Given the description of an element on the screen output the (x, y) to click on. 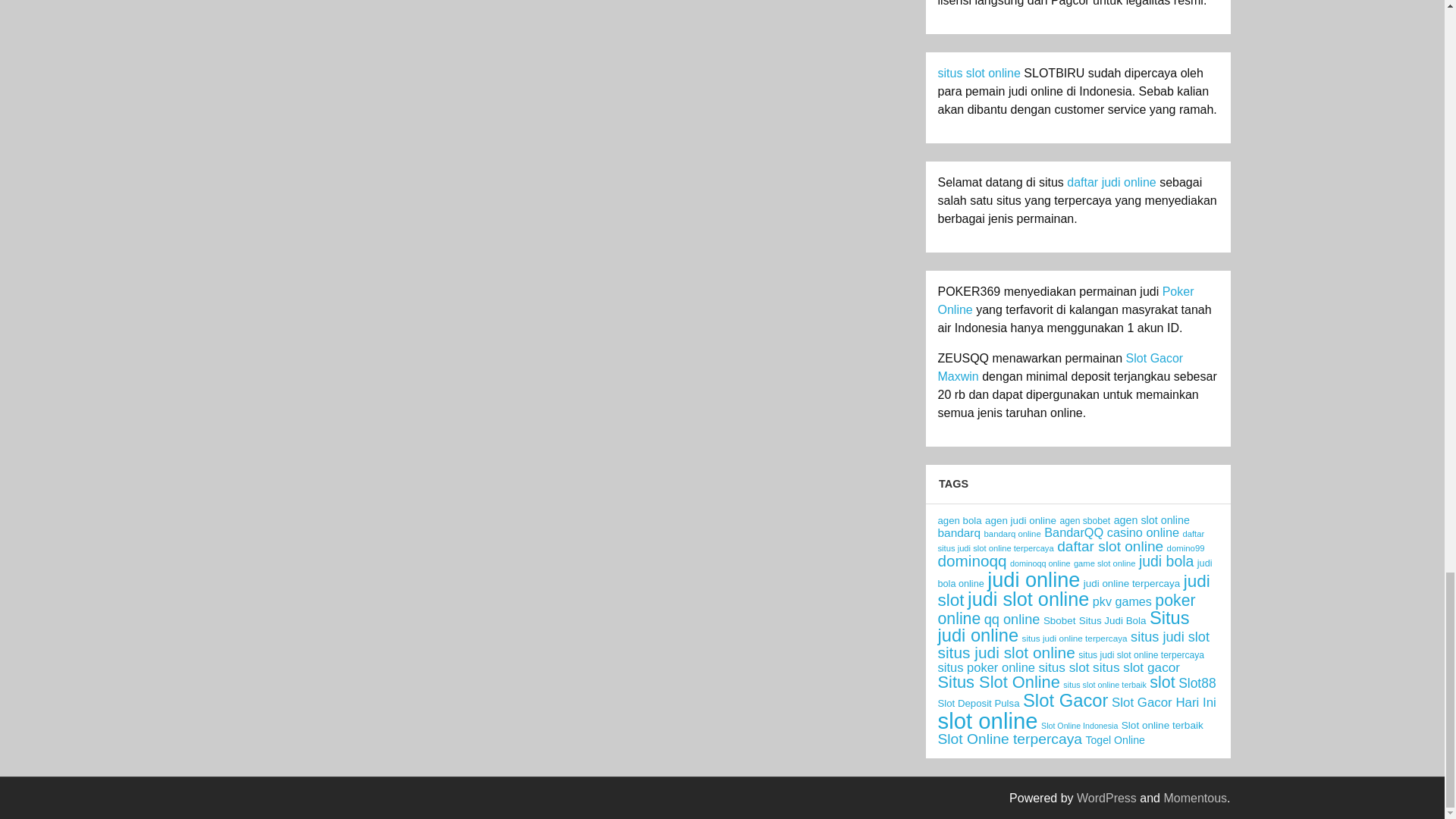
WordPress (1107, 797)
Momentous WordPress Theme (1195, 797)
